Given the description of an element on the screen output the (x, y) to click on. 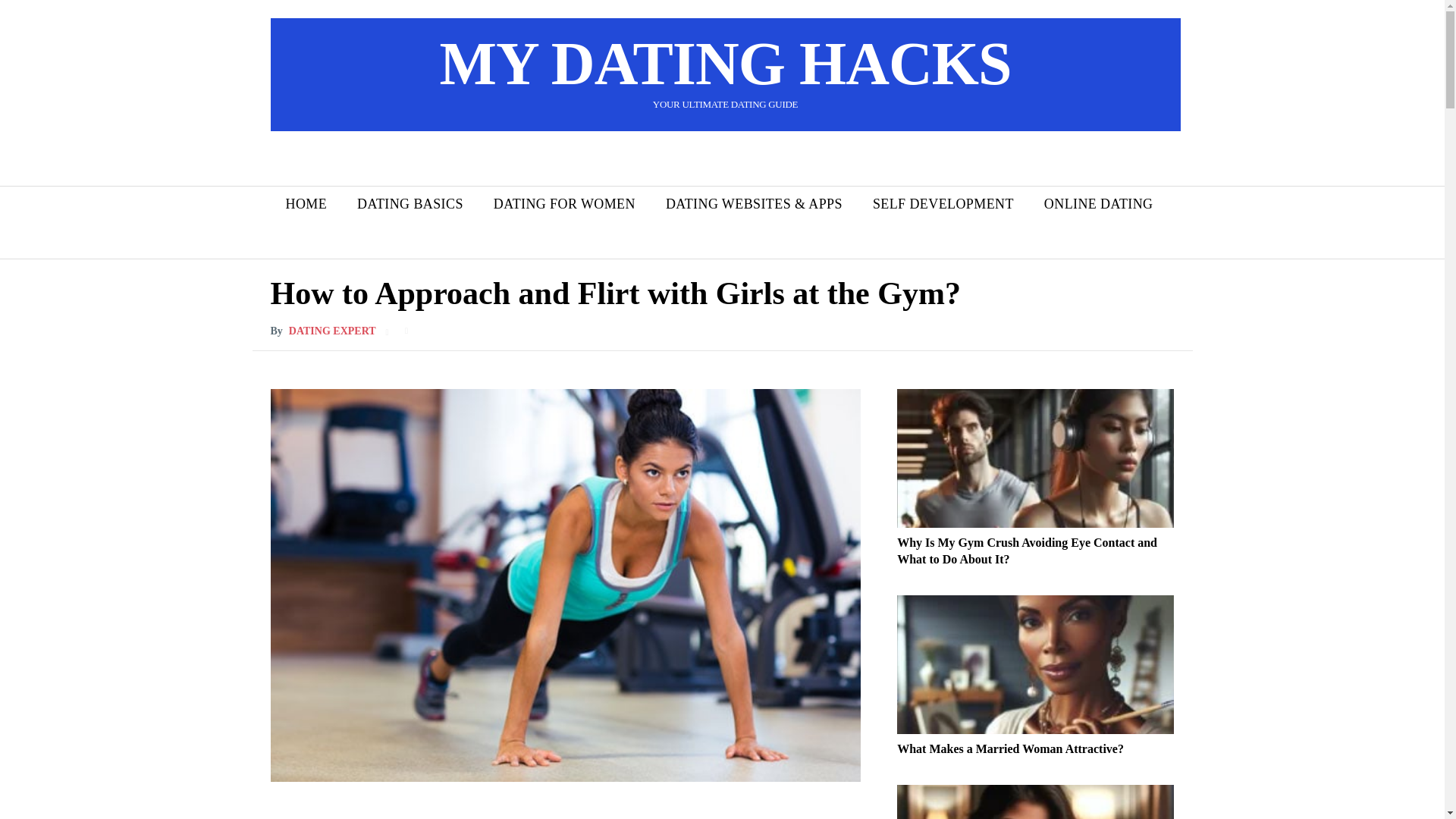
What Makes a Married Woman Attractive? (1010, 748)
DATING EXPERT (331, 330)
What Does It Mean When a Girl Snaps You in Bed? (1034, 801)
What Makes a Married Woman Attractive? (1010, 748)
SELF DEVELOPMENT (943, 203)
DATING FOR WOMEN (564, 203)
DATING BASICS (410, 203)
ONLINE DATING (1099, 203)
HOME (305, 203)
What Makes a Married Woman Attractive? (1034, 664)
